Given the description of an element on the screen output the (x, y) to click on. 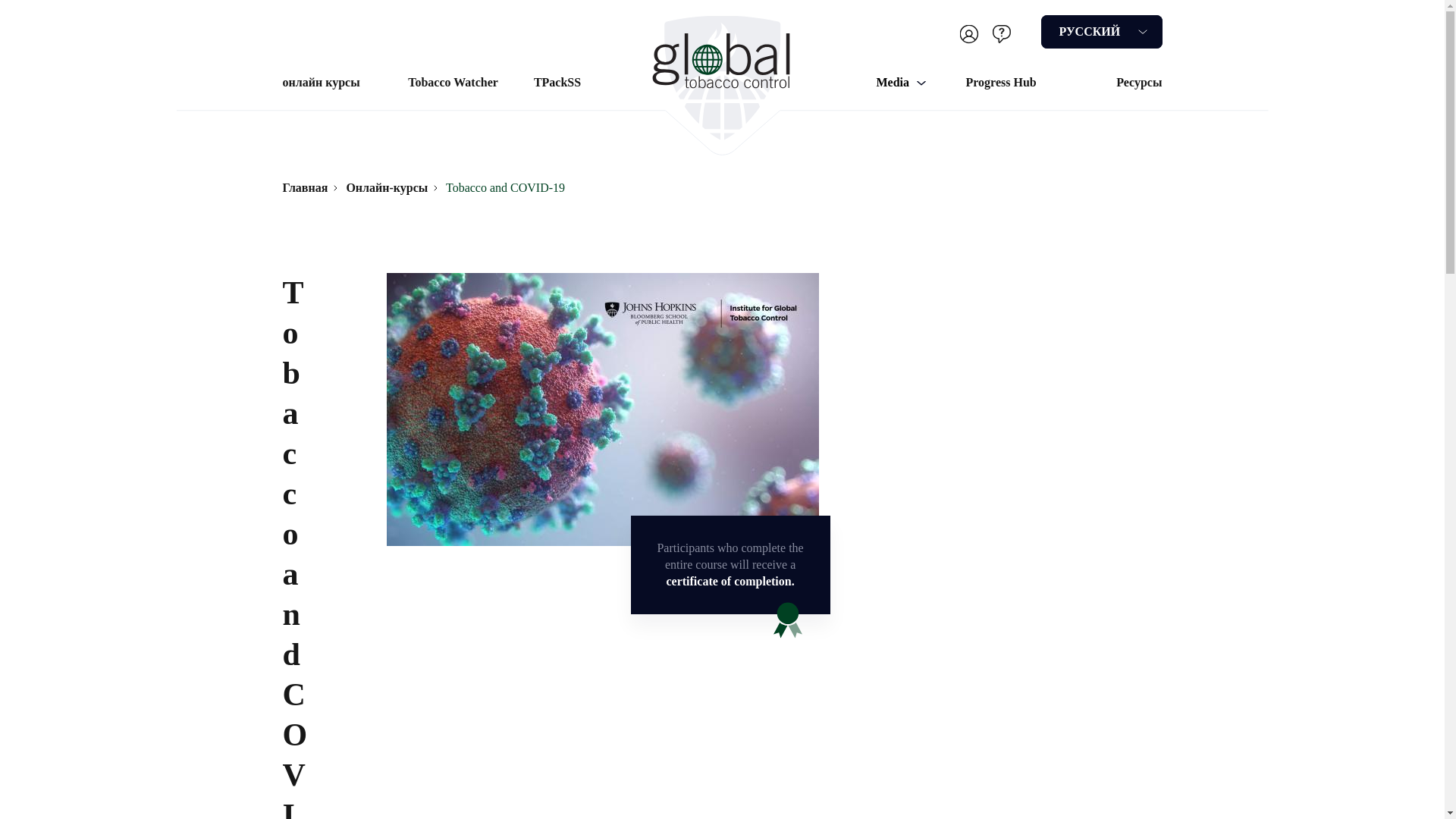
Global Tobacco Progress Hub (1001, 82)
Tobacco Watcher (452, 82)
Progress Hub (1001, 82)
TPackSS (557, 82)
Media (901, 82)
Global Tobacco Control (721, 77)
